Given the description of an element on the screen output the (x, y) to click on. 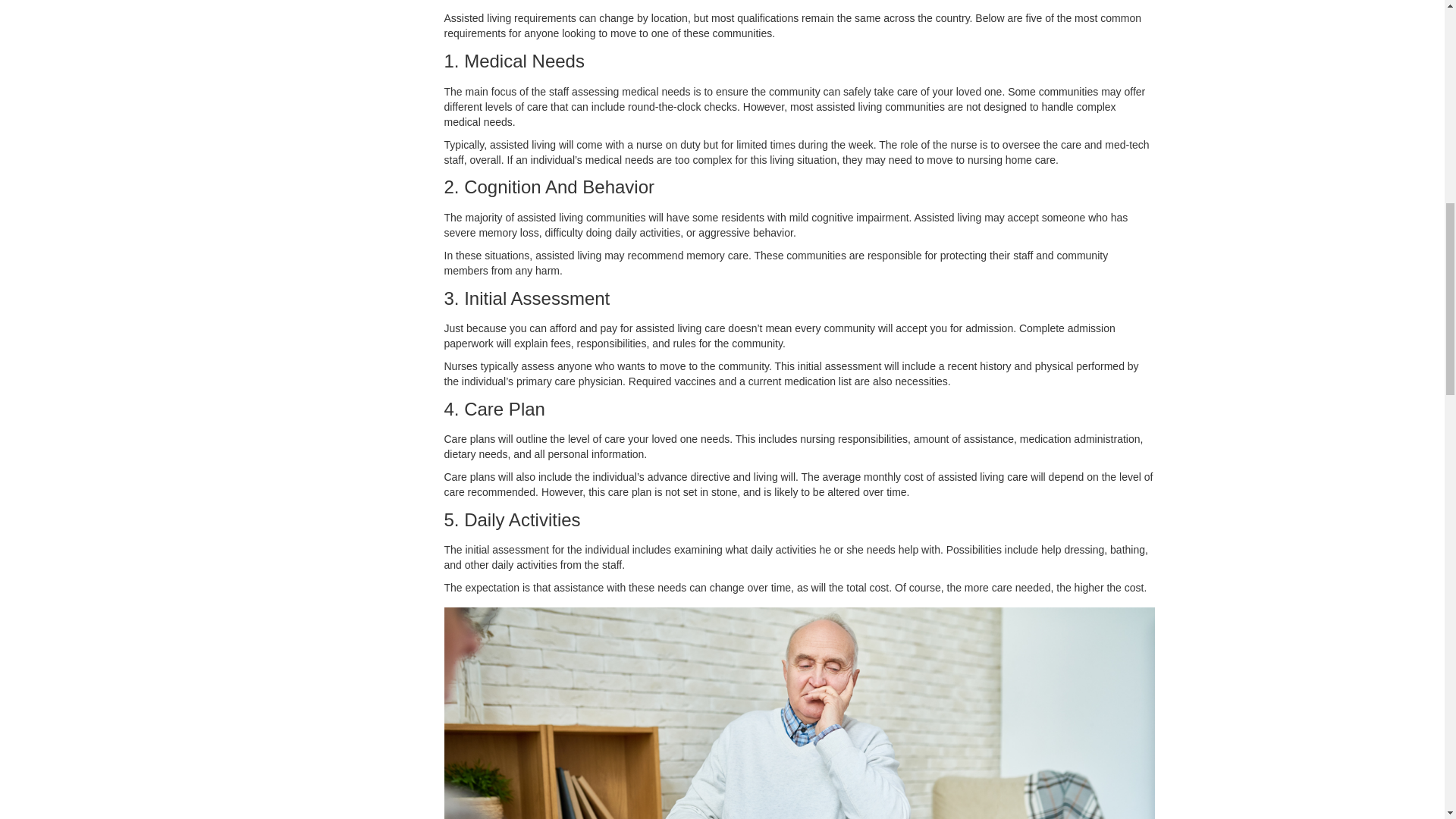
Some communities (1052, 91)
